Given the description of an element on the screen output the (x, y) to click on. 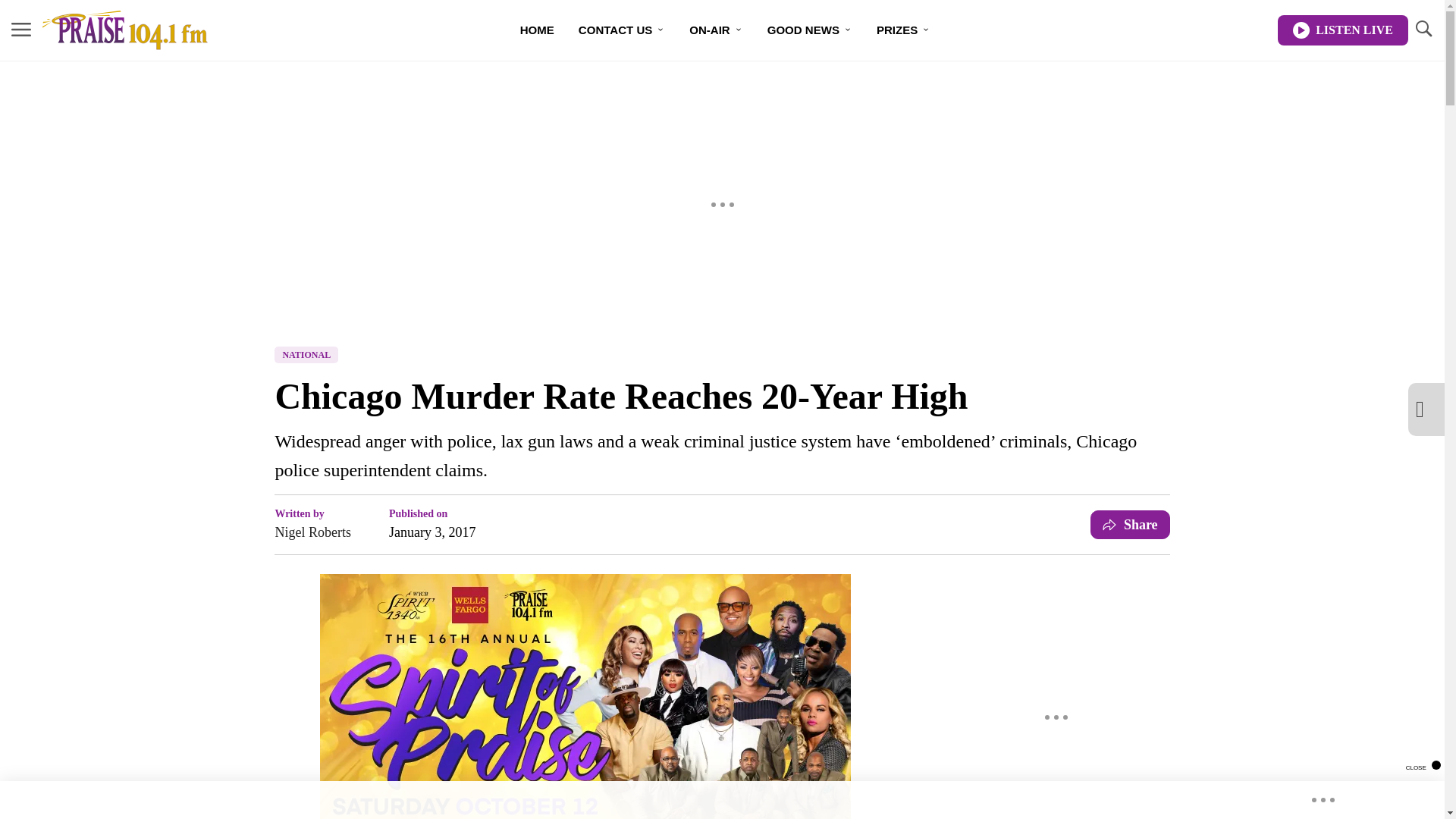
PRIZES (903, 30)
CONTACT US (621, 30)
GOOD NEWS (809, 30)
TOGGLE SEARCH (1422, 30)
HOME (537, 30)
Nigel Roberts (312, 531)
LISTEN LIVE (1342, 30)
MENU (20, 29)
ON-AIR (715, 30)
MENU (20, 30)
